Given the description of an element on the screen output the (x, y) to click on. 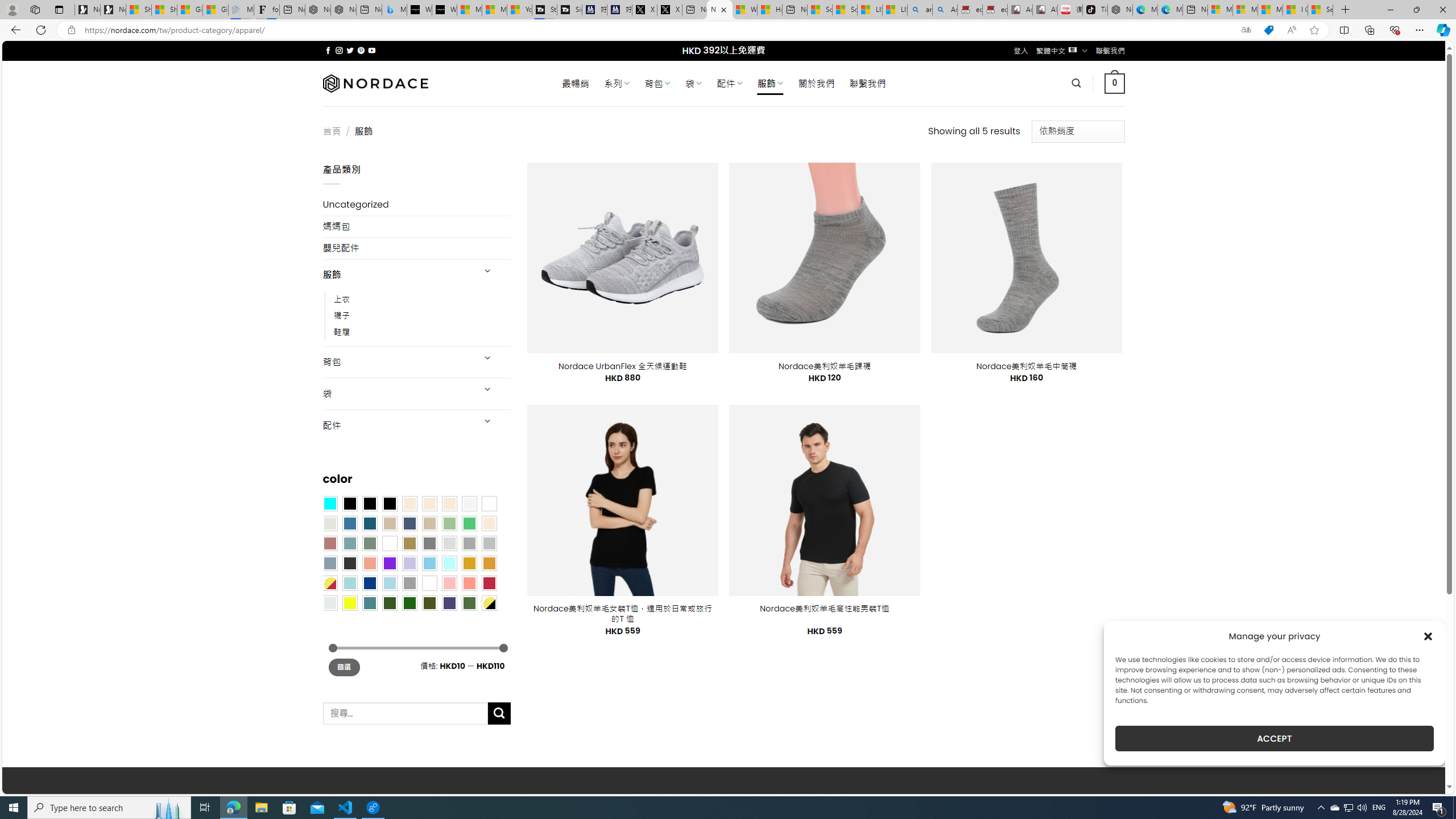
Cream (449, 503)
ACCEPT (1274, 738)
